Given the description of an element on the screen output the (x, y) to click on. 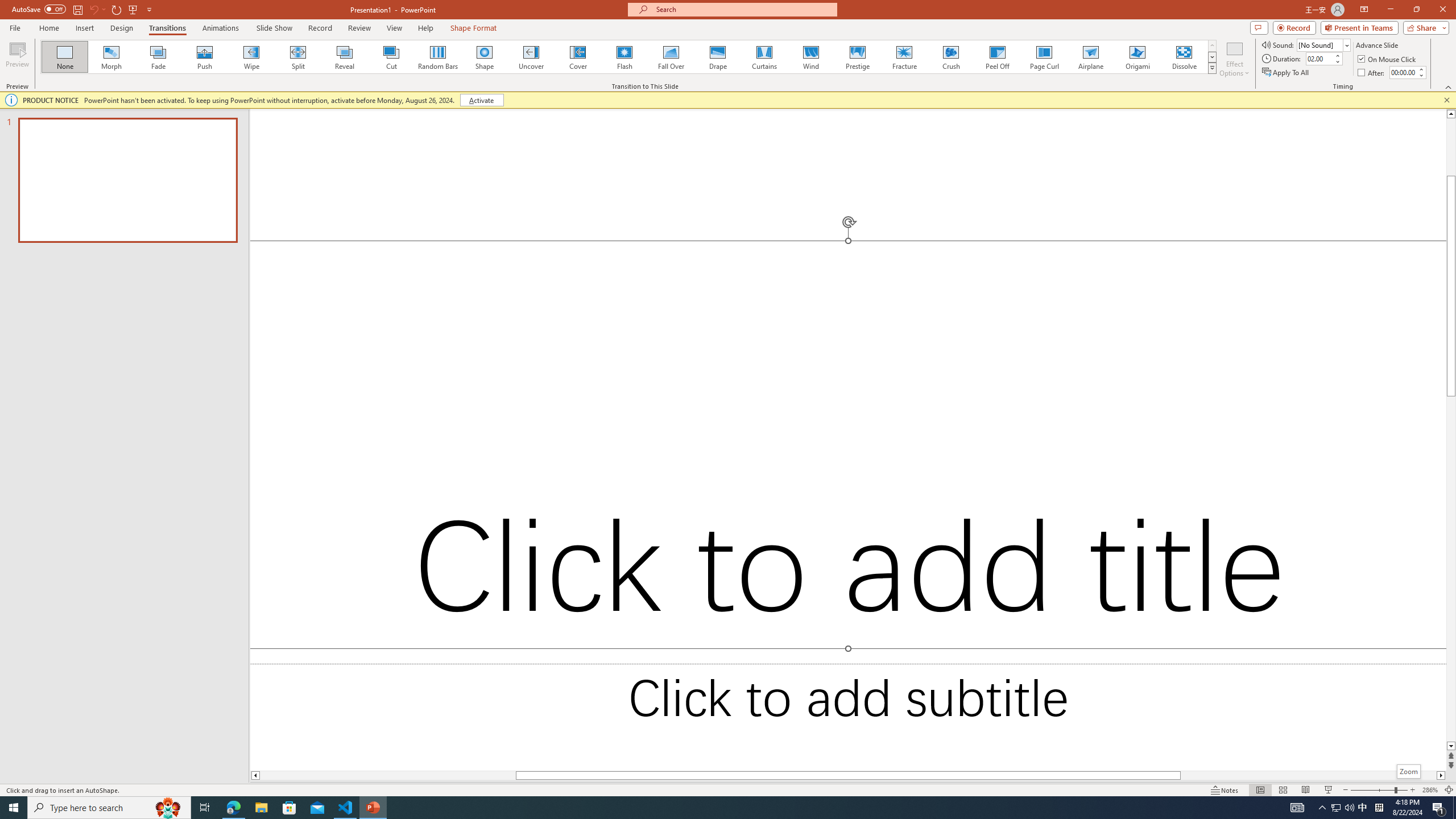
Wind (810, 56)
Crush (950, 56)
Activate (481, 100)
Fade (158, 56)
Peel Off (997, 56)
Shape (484, 56)
